Given the description of an element on the screen output the (x, y) to click on. 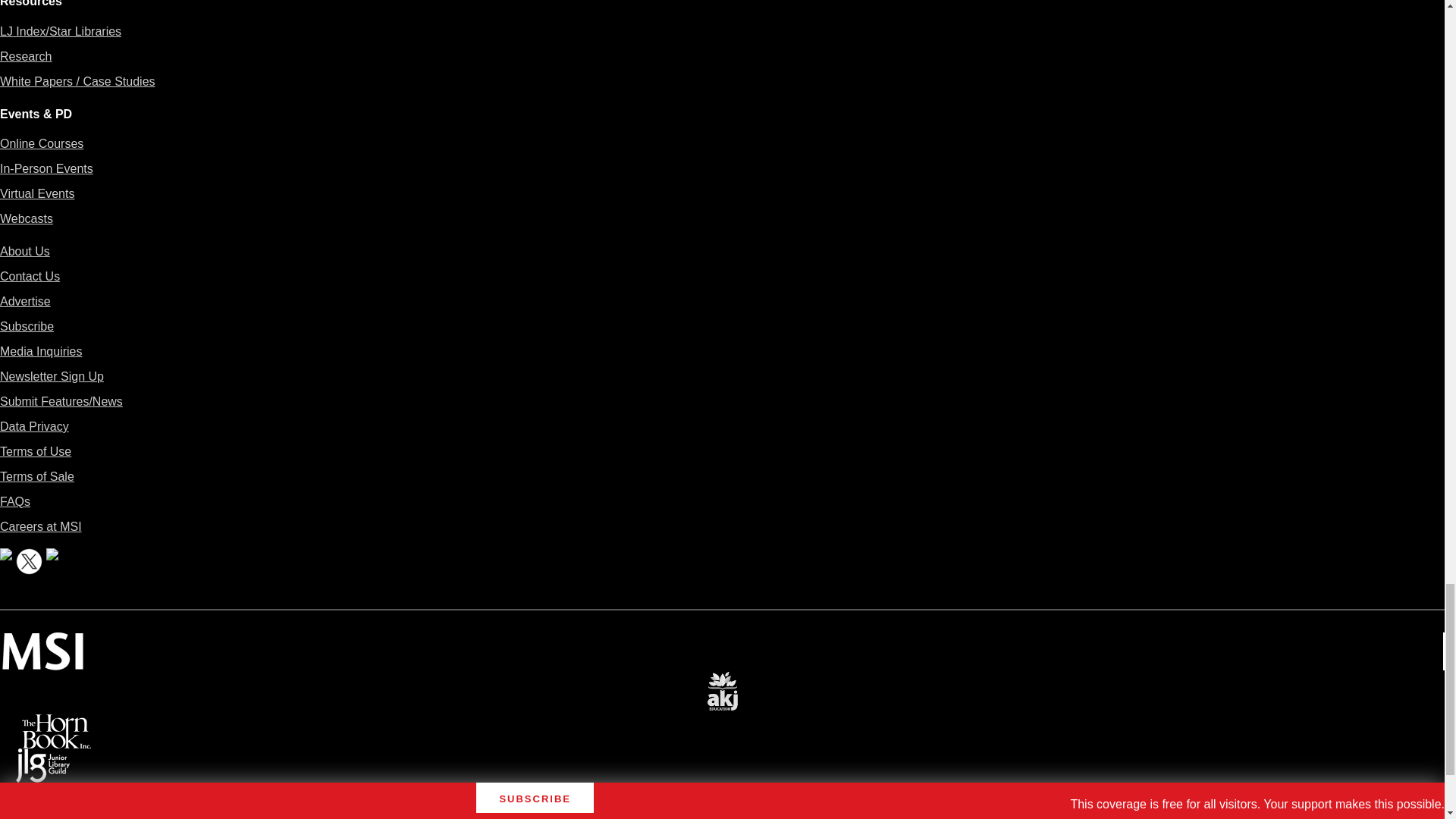
School Library Journal (40, 813)
The Horn Book (56, 724)
Junior Library Guild (42, 758)
Media Source Incorporated (42, 642)
AKJ (722, 680)
